Given the description of an element on the screen output the (x, y) to click on. 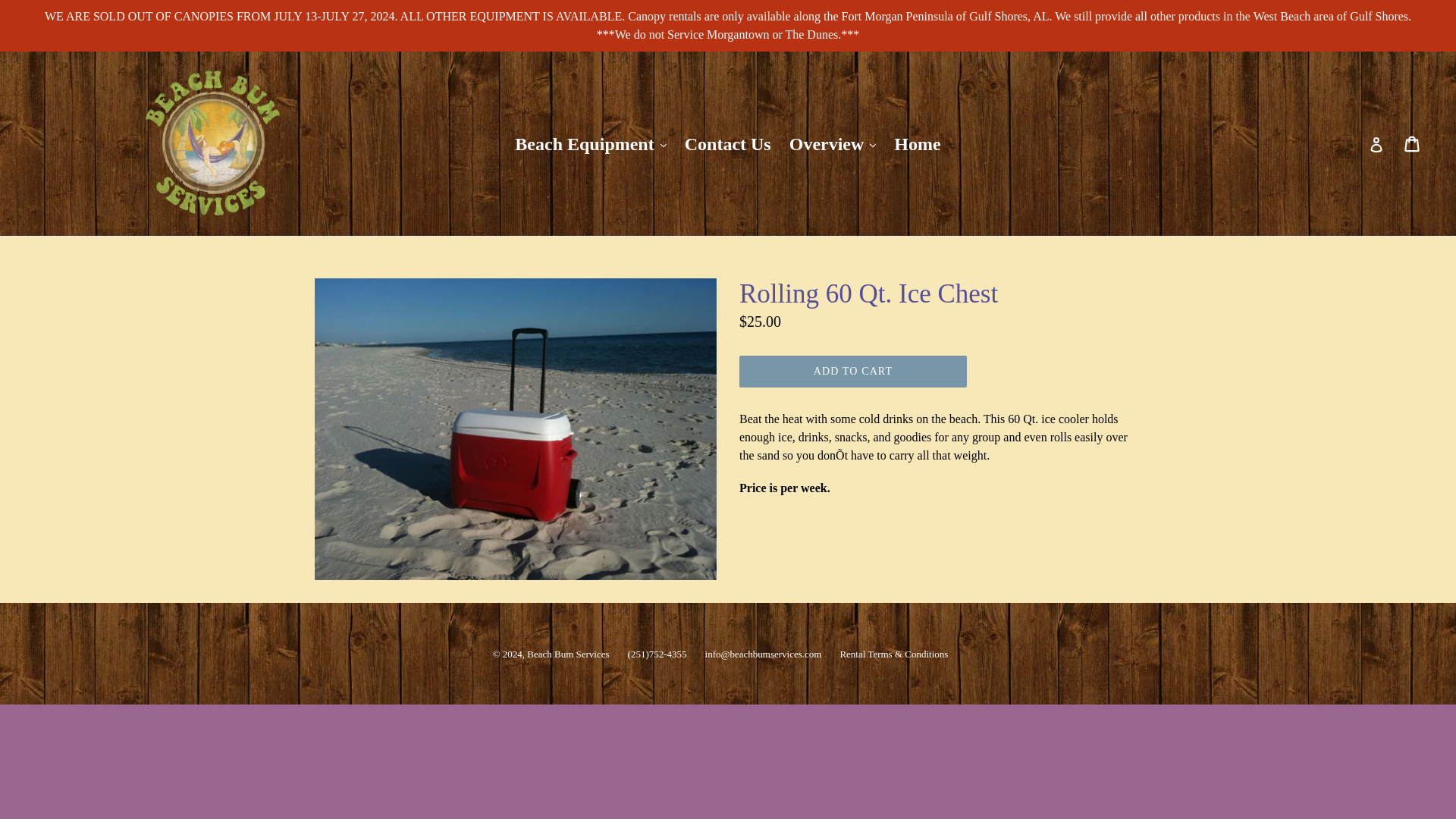
Contact Us (727, 142)
Home (916, 142)
